Given the description of an element on the screen output the (x, y) to click on. 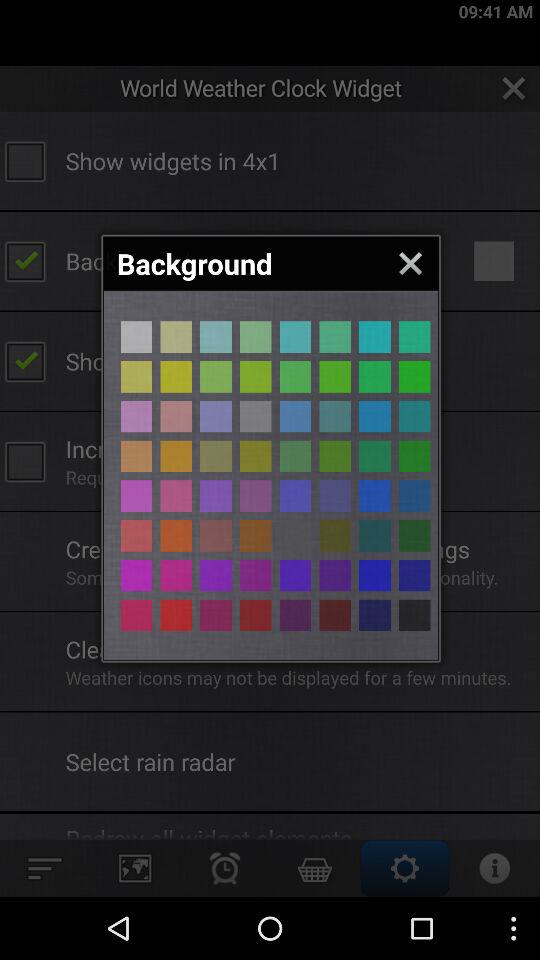
color of the button (215, 336)
